Given the description of an element on the screen output the (x, y) to click on. 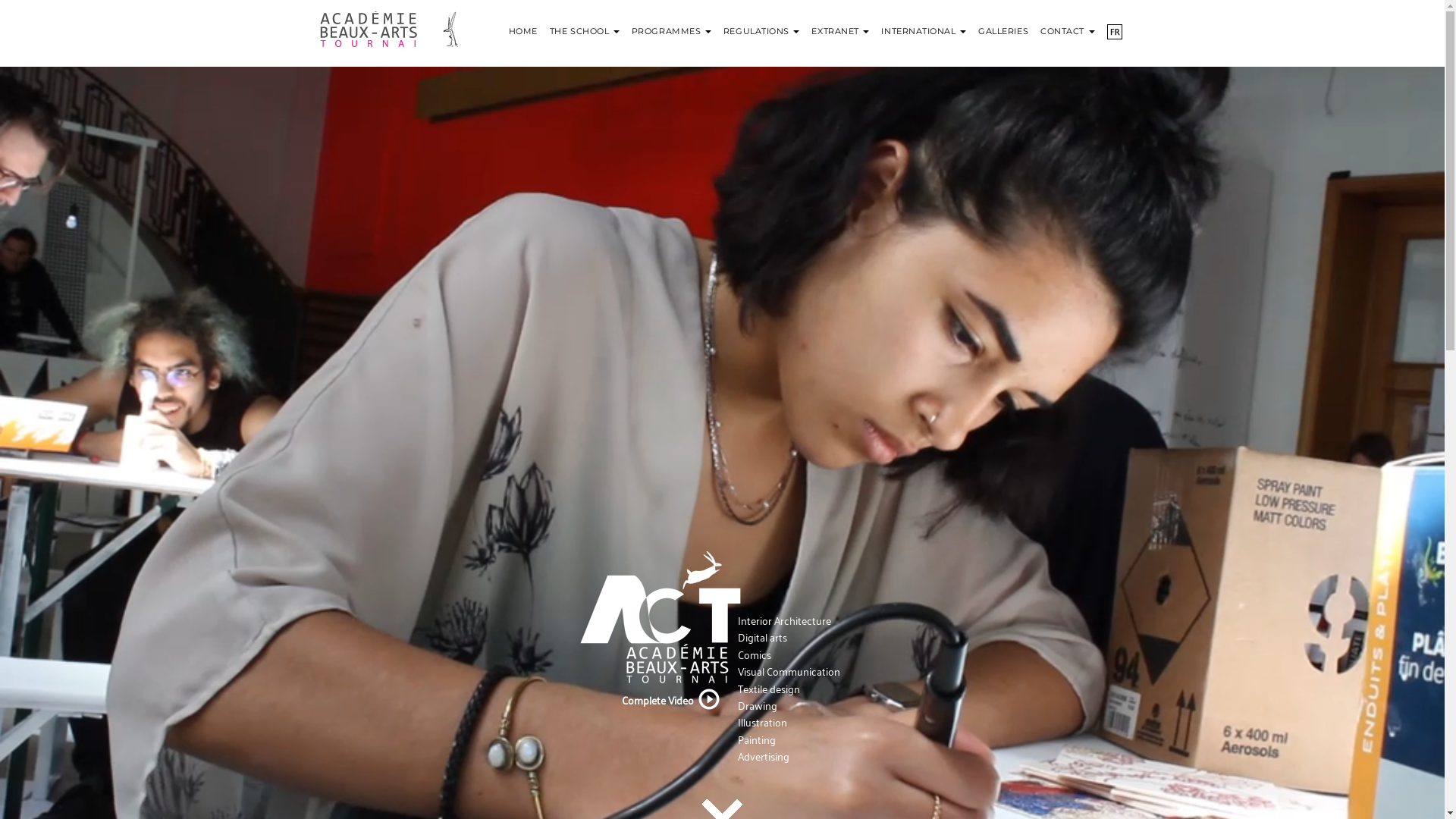
Advertising Element type: text (762, 755)
Painting Element type: text (756, 738)
Digital arts Element type: text (761, 636)
Textile design Element type: text (768, 687)
CONTACT Element type: text (1067, 22)
PROGRAMMES Element type: text (671, 22)
EXTRANET Element type: text (840, 22)
Interior Architecture Element type: text (783, 619)
HOME Element type: text (522, 22)
REGULATIONS Element type: text (761, 22)
Illustration Element type: text (761, 721)
GALLERIES Element type: text (1003, 22)
Visual Communication Element type: text (788, 670)
THE SCHOOL Element type: text (584, 22)
Comics Element type: text (753, 653)
Complete Video   Element type: text (659, 699)
Drawing Element type: text (756, 704)
INTERNATIONAL Element type: text (923, 22)
